Given the description of an element on the screen output the (x, y) to click on. 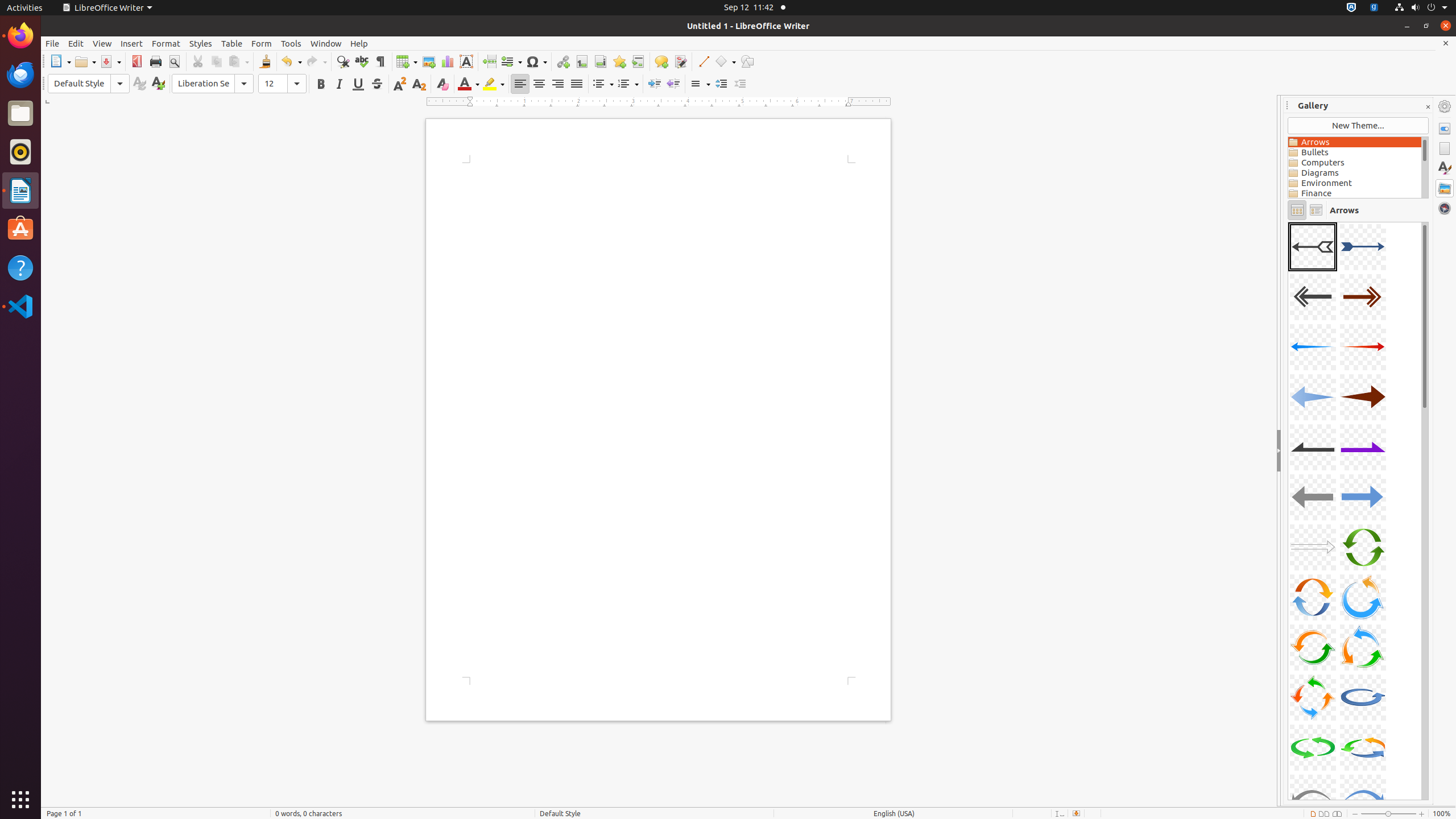
Tools Element type: menu (290, 43)
Insert Element type: menu (131, 43)
Properties Element type: radio-button (1444, 128)
Update Element type: push-button (138, 83)
Styles Element type: menu (200, 43)
